Given the description of an element on the screen output the (x, y) to click on. 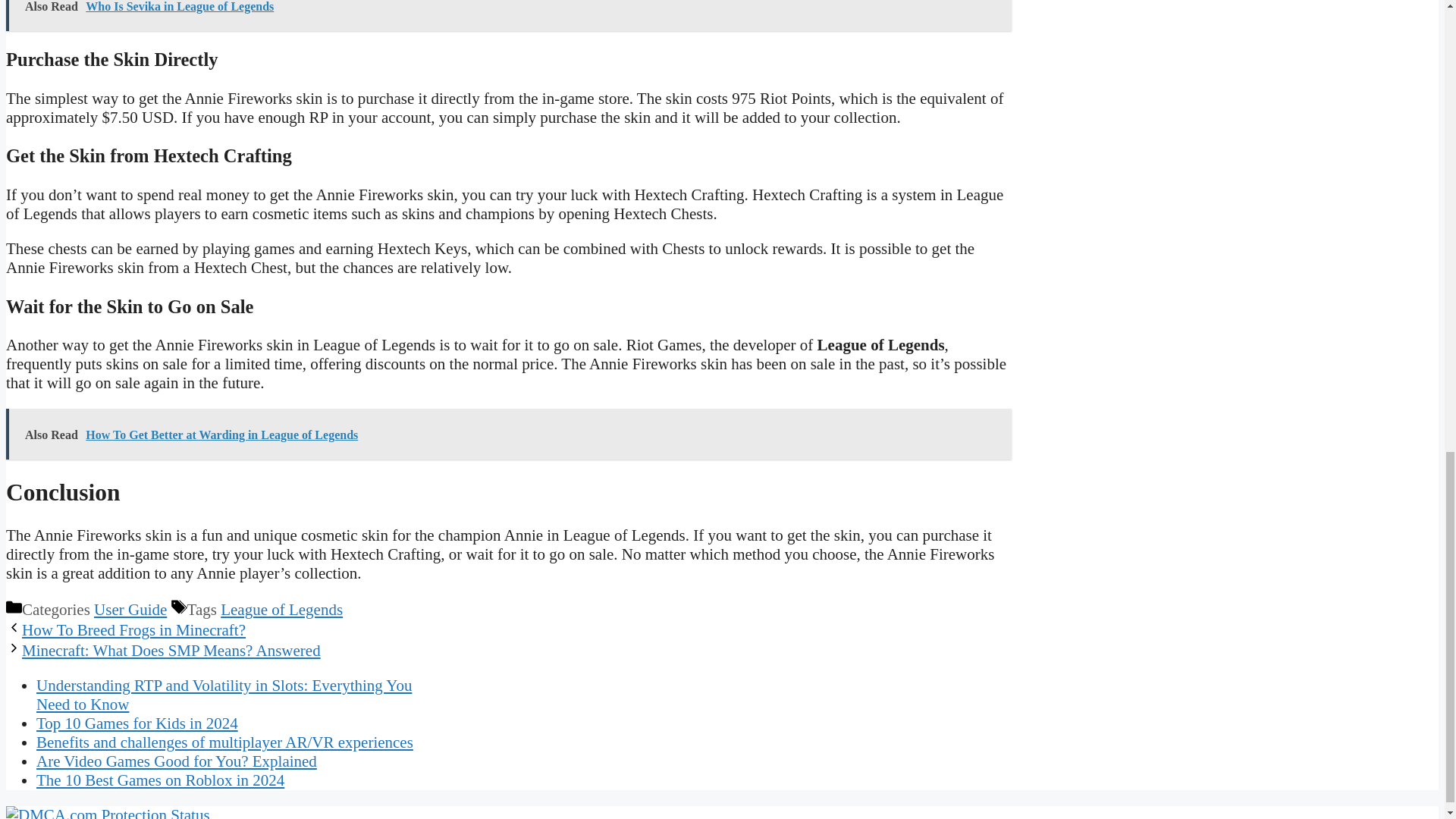
Top 10 Games for Kids in 2024 (137, 723)
The 10 Best Games on Roblox in 2024 (159, 780)
Minecraft: What Does SMP Means? Answered (170, 650)
Also Read  How To Get Better at Warding in League of Legends (508, 433)
Also Read  Who Is Sevika in League of Legends (508, 15)
League of Legends (281, 609)
How To Breed Frogs in Minecraft? (133, 629)
User Guide (130, 609)
Are Video Games Good for You? Explained (176, 761)
